Given the description of an element on the screen output the (x, y) to click on. 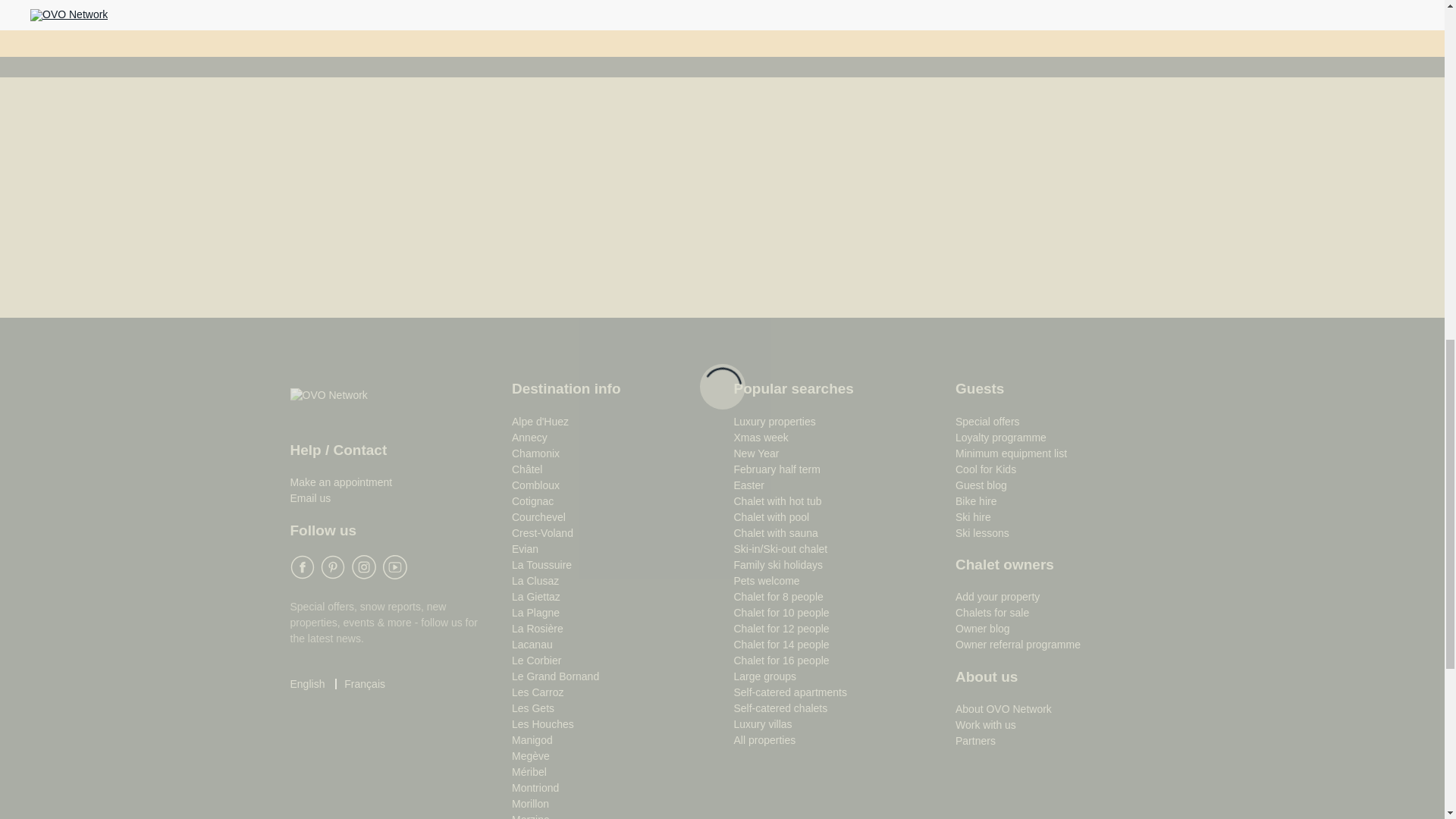
Make an appointment (340, 481)
Le Corbier (536, 660)
La Plagne (535, 612)
Annecy (529, 437)
Le Grand Bornand (555, 676)
Chamonix (535, 453)
Crest-Voland (542, 532)
Les Carroz (537, 692)
Email us (309, 498)
Les Gets (533, 707)
Evian (525, 548)
Alpe d'Huez (540, 421)
Lacanau (532, 644)
English (306, 684)
Combloux (535, 485)
